Given the description of an element on the screen output the (x, y) to click on. 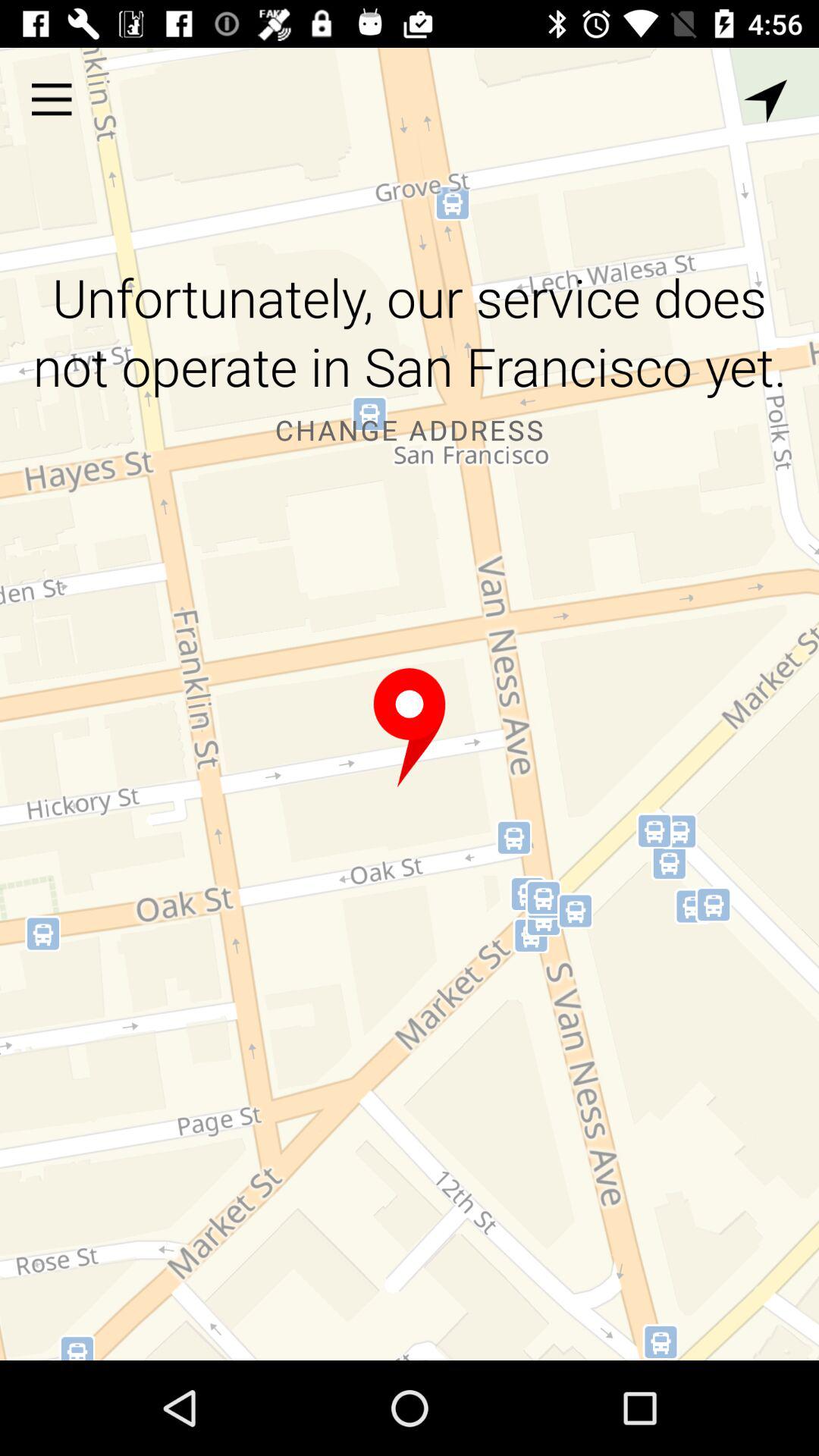
choose the item above unfortunately our service item (765, 100)
